Given the description of an element on the screen output the (x, y) to click on. 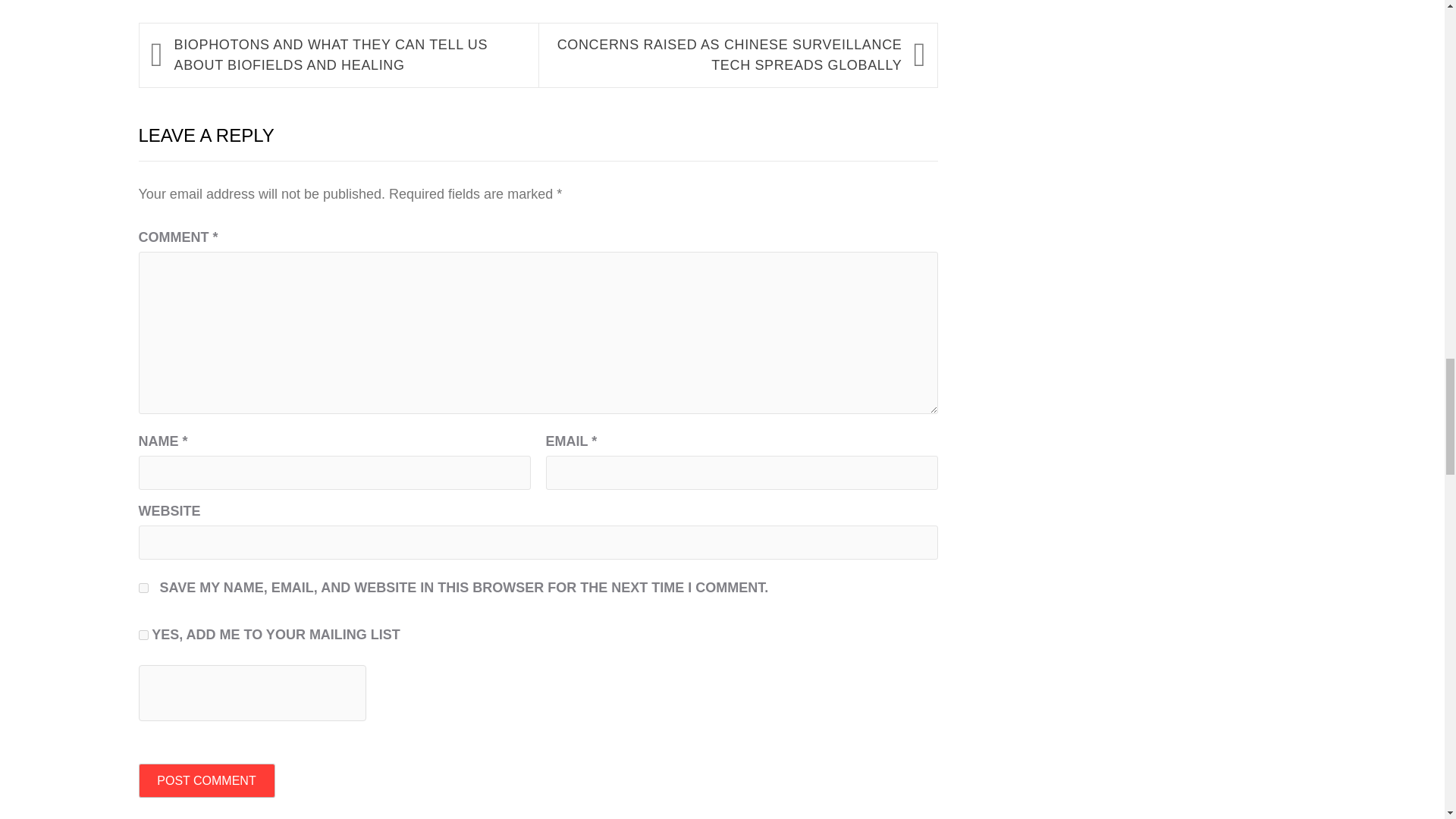
Post Comment (206, 780)
Post Comment (206, 780)
